Given the description of an element on the screen output the (x, y) to click on. 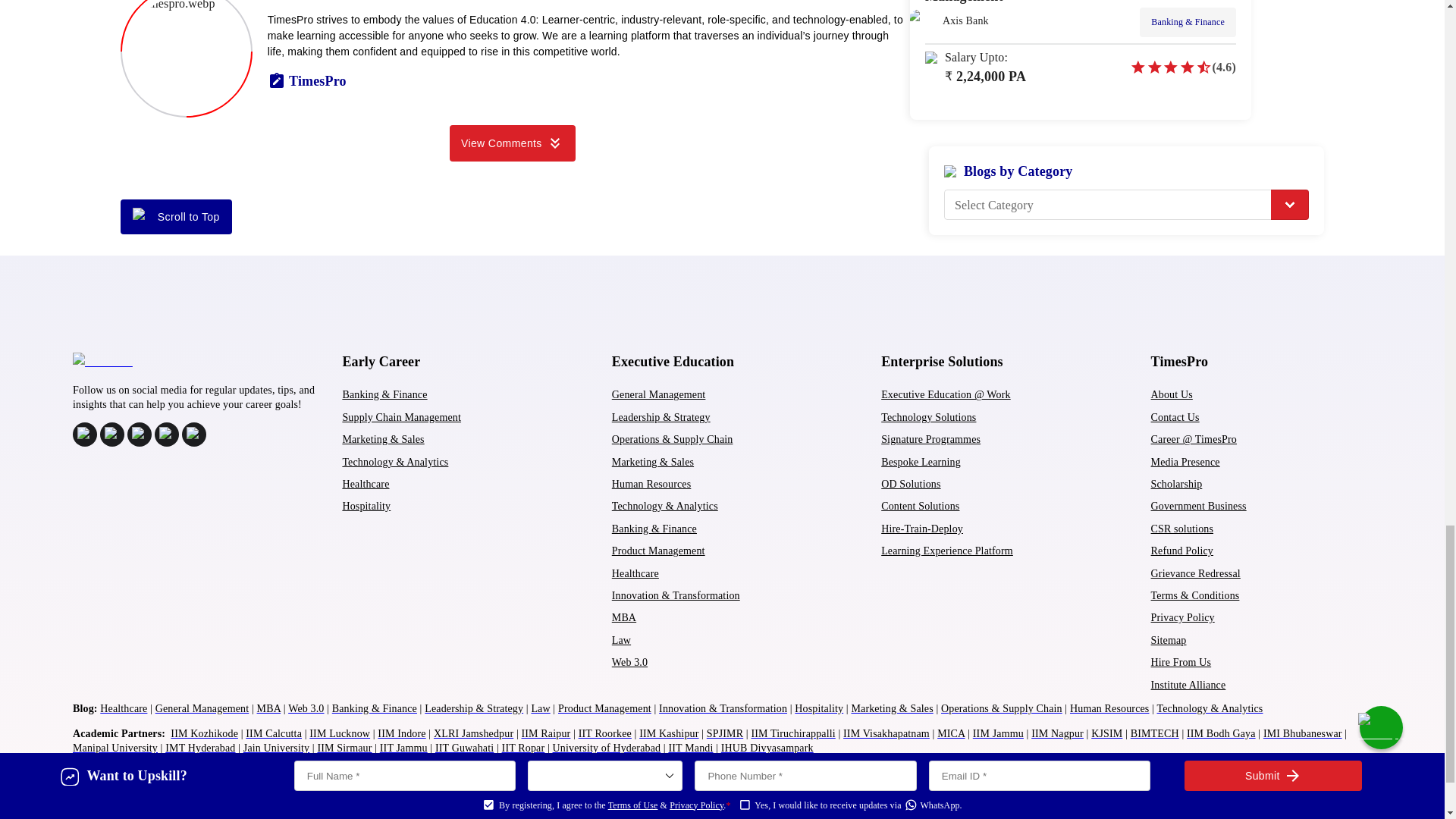
Supply Chain Management (401, 417)
Healthcare (365, 483)
Hospitality (366, 505)
General Management (658, 394)
Human Resources (651, 483)
View Comments (512, 143)
Scroll to Top (175, 216)
